Given the description of an element on the screen output the (x, y) to click on. 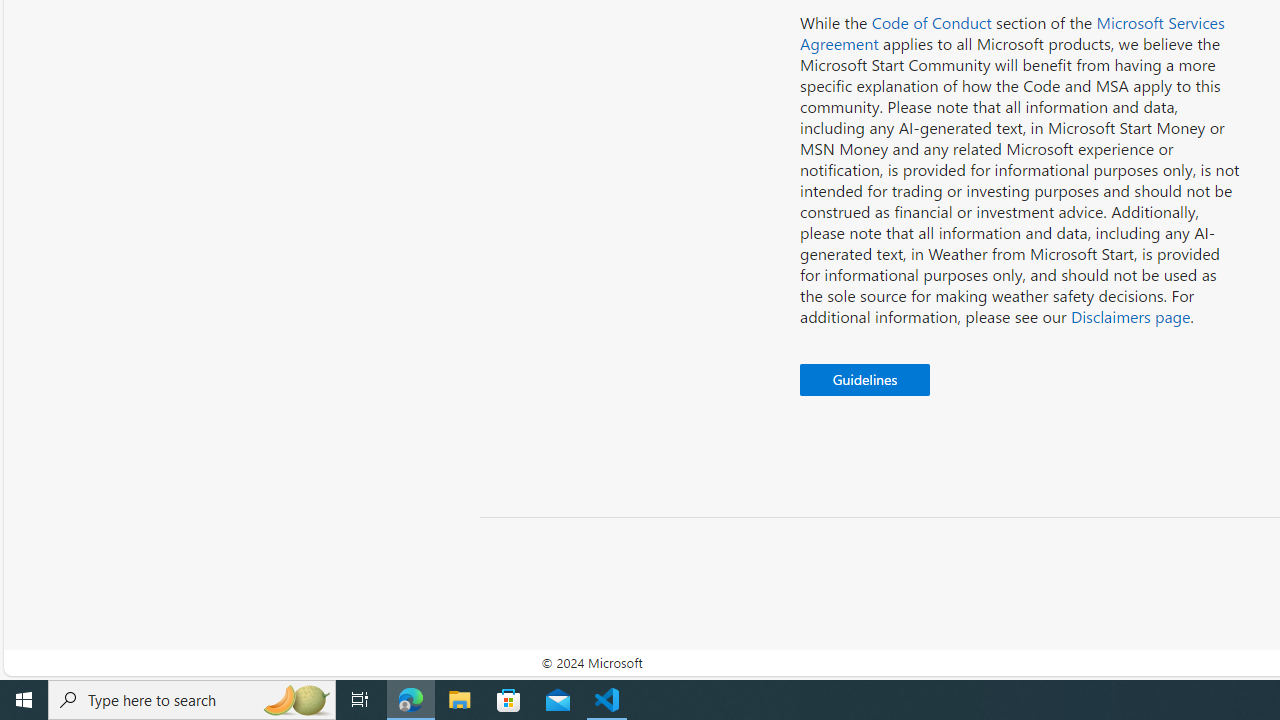
Guidelines  (865, 380)
Disclaimers page (1130, 316)
Microsoft Services Agreement (1012, 33)
Code of Conduct (931, 22)
